Given the description of an element on the screen output the (x, y) to click on. 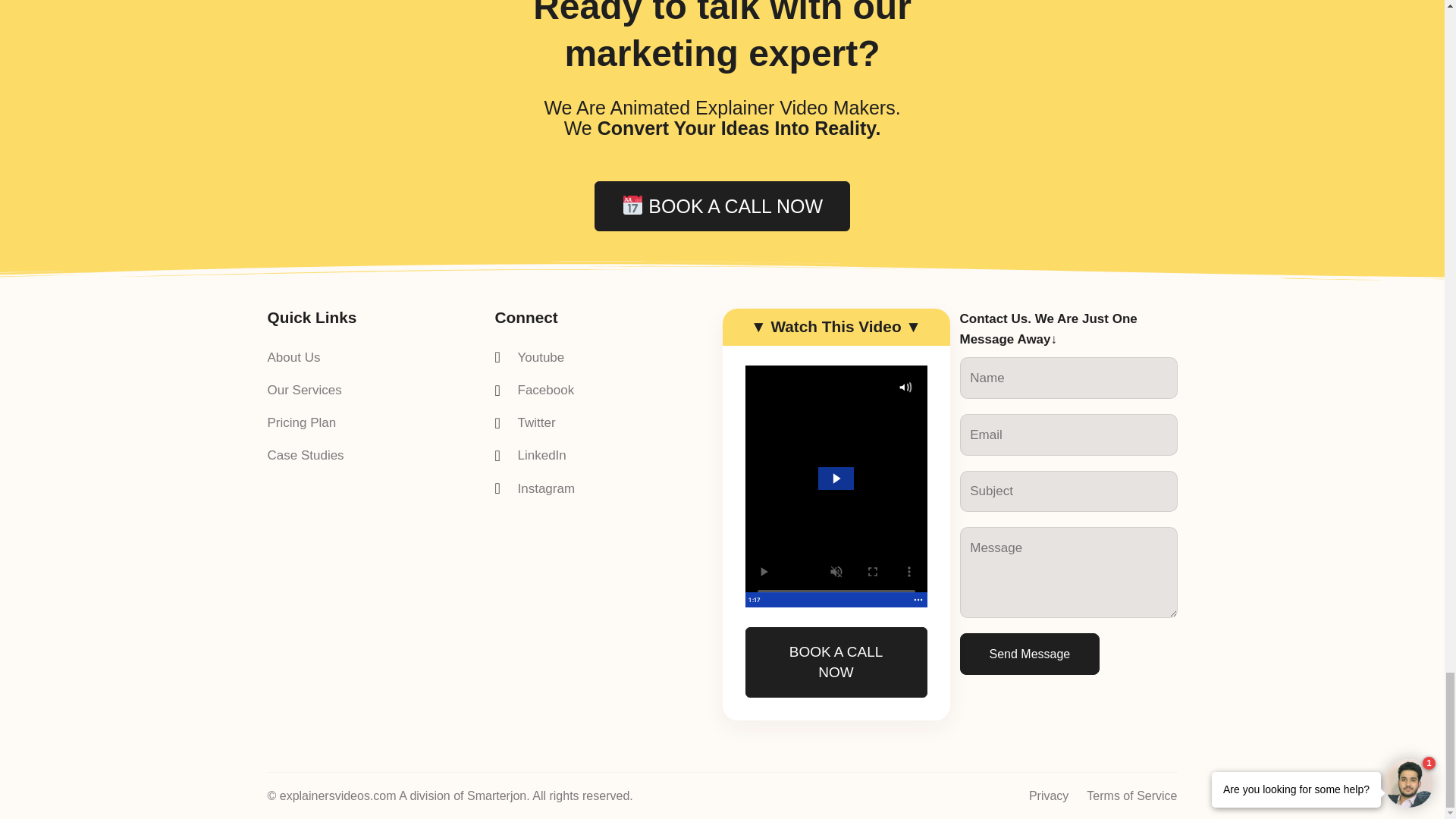
Case Studies (304, 455)
Twitter (535, 422)
Facebook (535, 390)
About Us (304, 357)
BOOK A CALL NOW (722, 205)
Youtube (535, 357)
Show more buttons (917, 599)
Our Services (304, 390)
Pricing Plan (304, 422)
LinkedIn (535, 455)
